Given the description of an element on the screen output the (x, y) to click on. 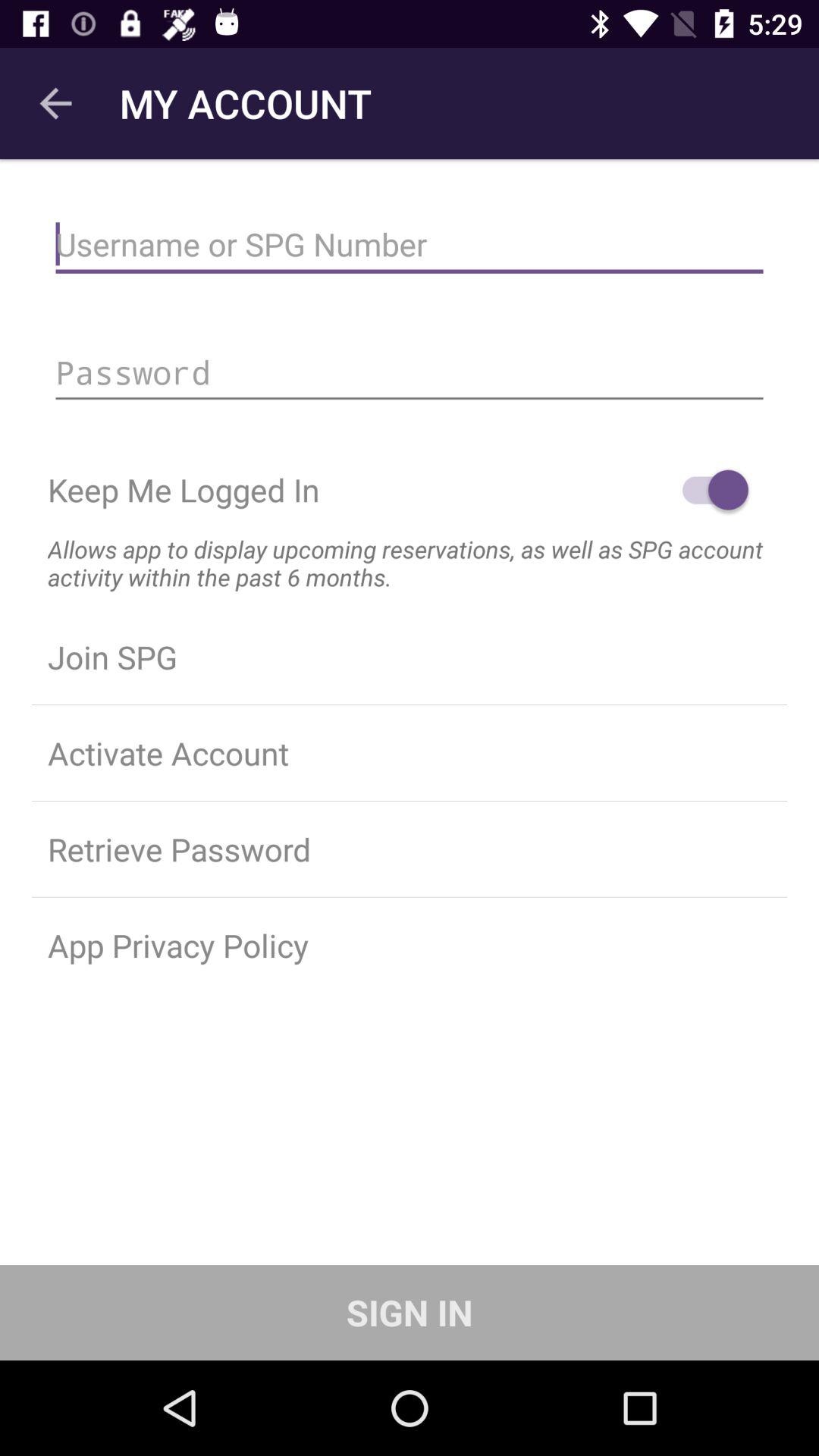
turn off the app to the left of the my account (55, 103)
